Given the description of an element on the screen output the (x, y) to click on. 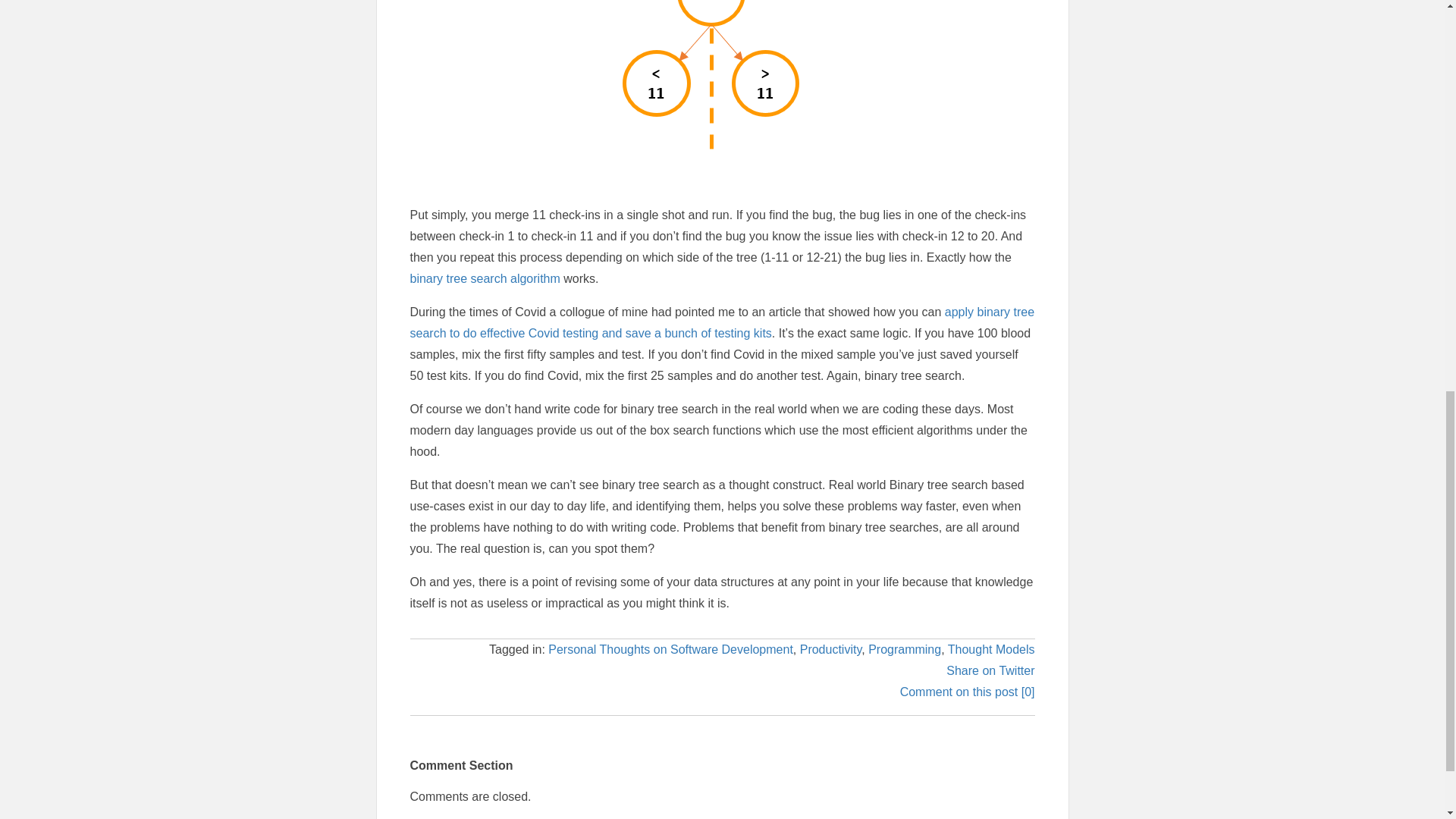
Programming (903, 649)
Personal Thoughts on Software Development (670, 649)
binarytreerealworld (722, 79)
binary tree search algorithm (484, 278)
Thought Models (991, 649)
Share on Twitter (989, 670)
Productivity (830, 649)
